Given the description of an element on the screen output the (x, y) to click on. 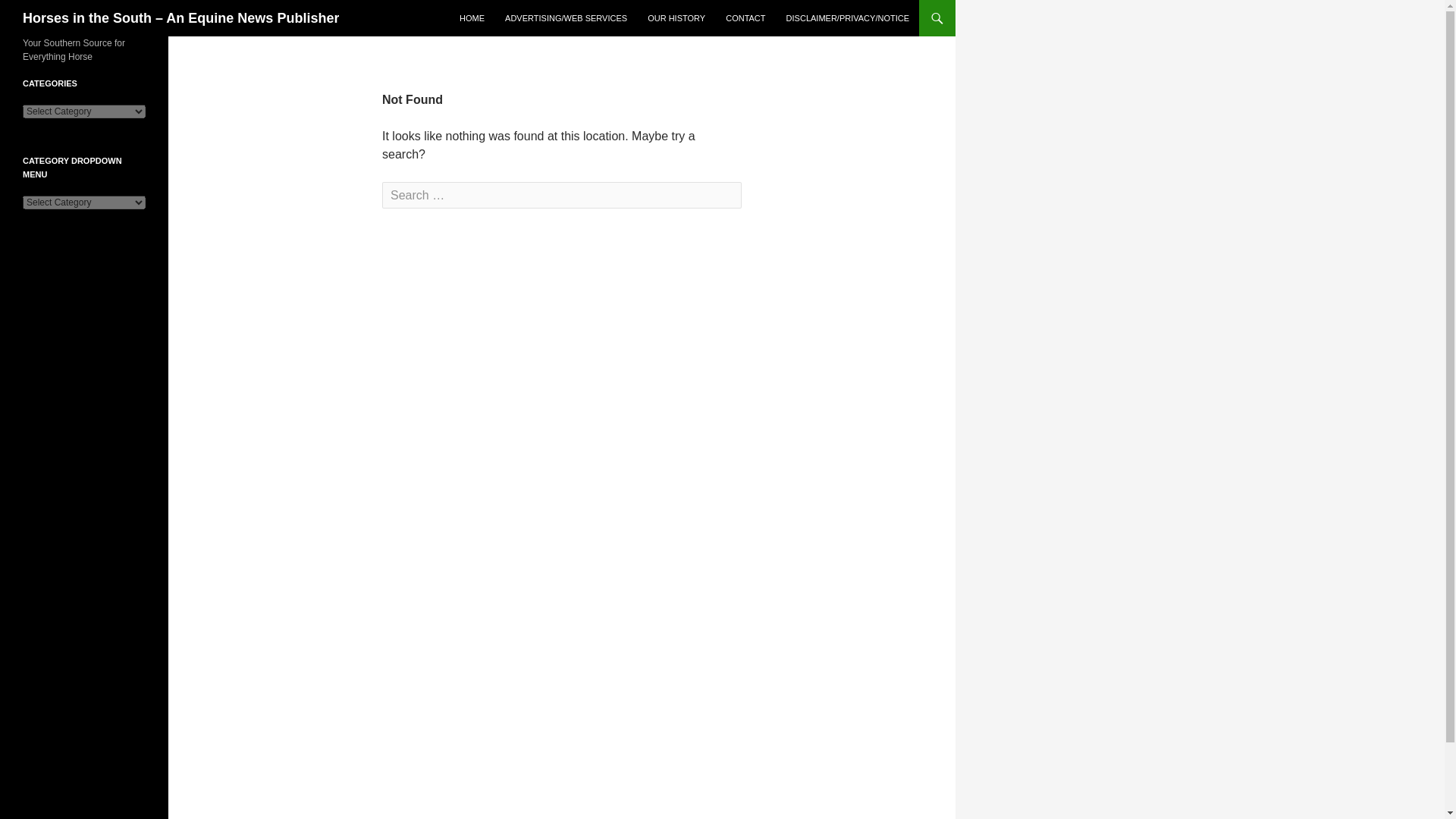
Search (42, 13)
OUR HISTORY (676, 18)
HOME (471, 18)
CONTACT (745, 18)
